Given the description of an element on the screen output the (x, y) to click on. 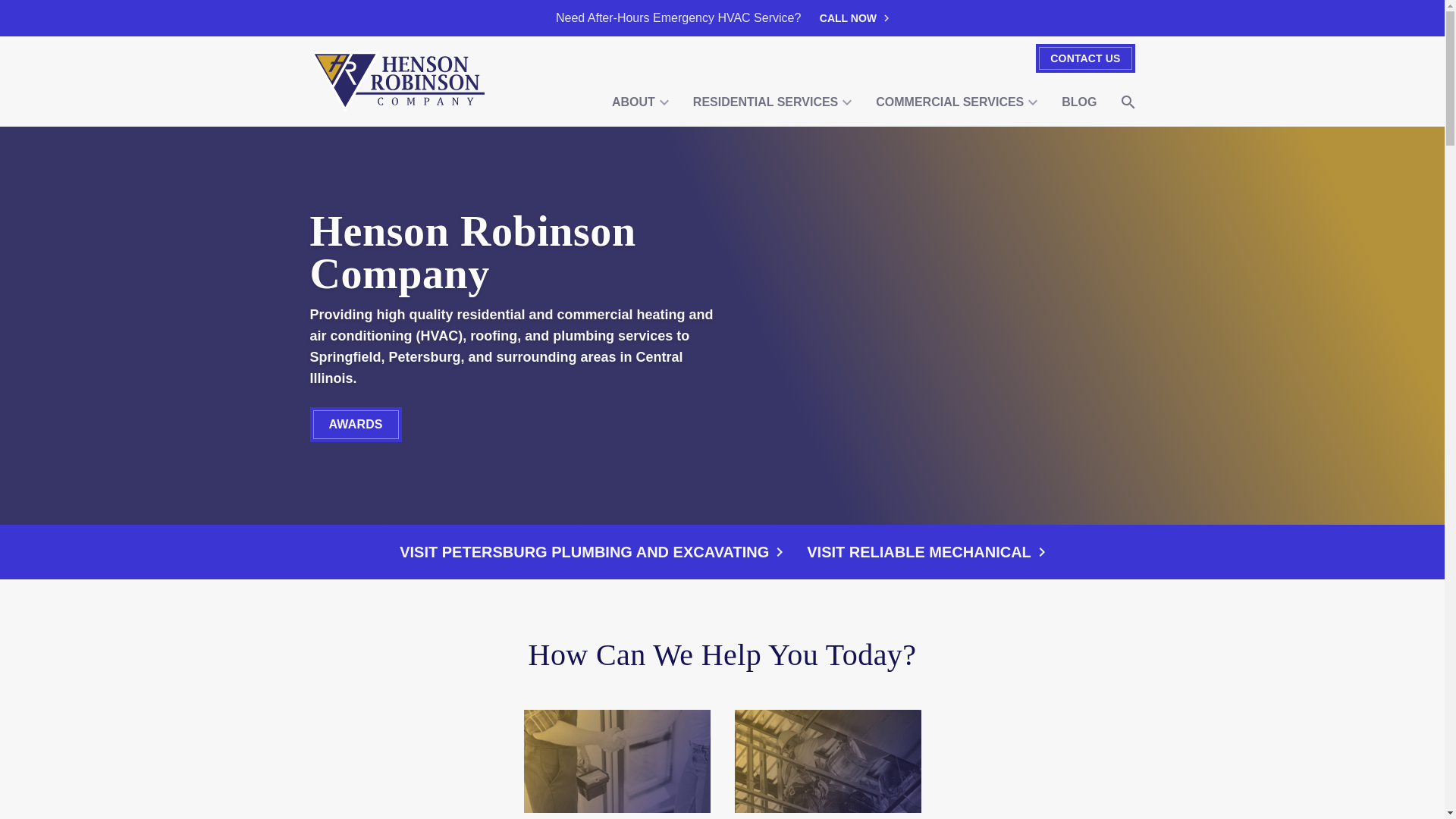
SEARCH (1127, 101)
ABOUT (639, 102)
BLOG (1078, 102)
Henson Robinson (396, 81)
COMMERCIAL SERVICES (956, 102)
CONTACT US (1084, 58)
RESIDENTIAL SERVICES (772, 102)
